Given the description of an element on the screen output the (x, y) to click on. 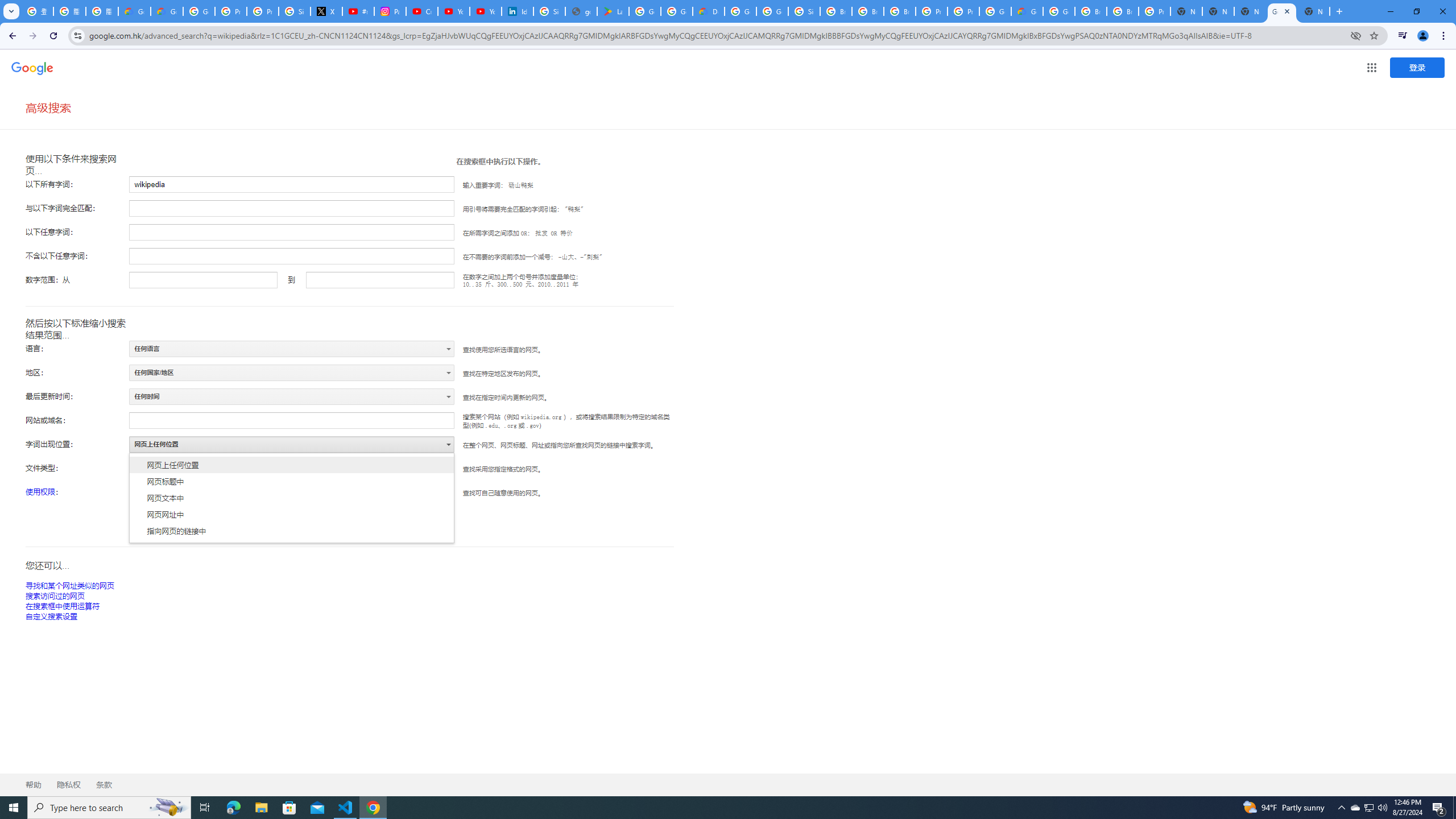
Google Cloud Platform (1059, 11)
Google Cloud Platform (740, 11)
